Given the description of an element on the screen output the (x, y) to click on. 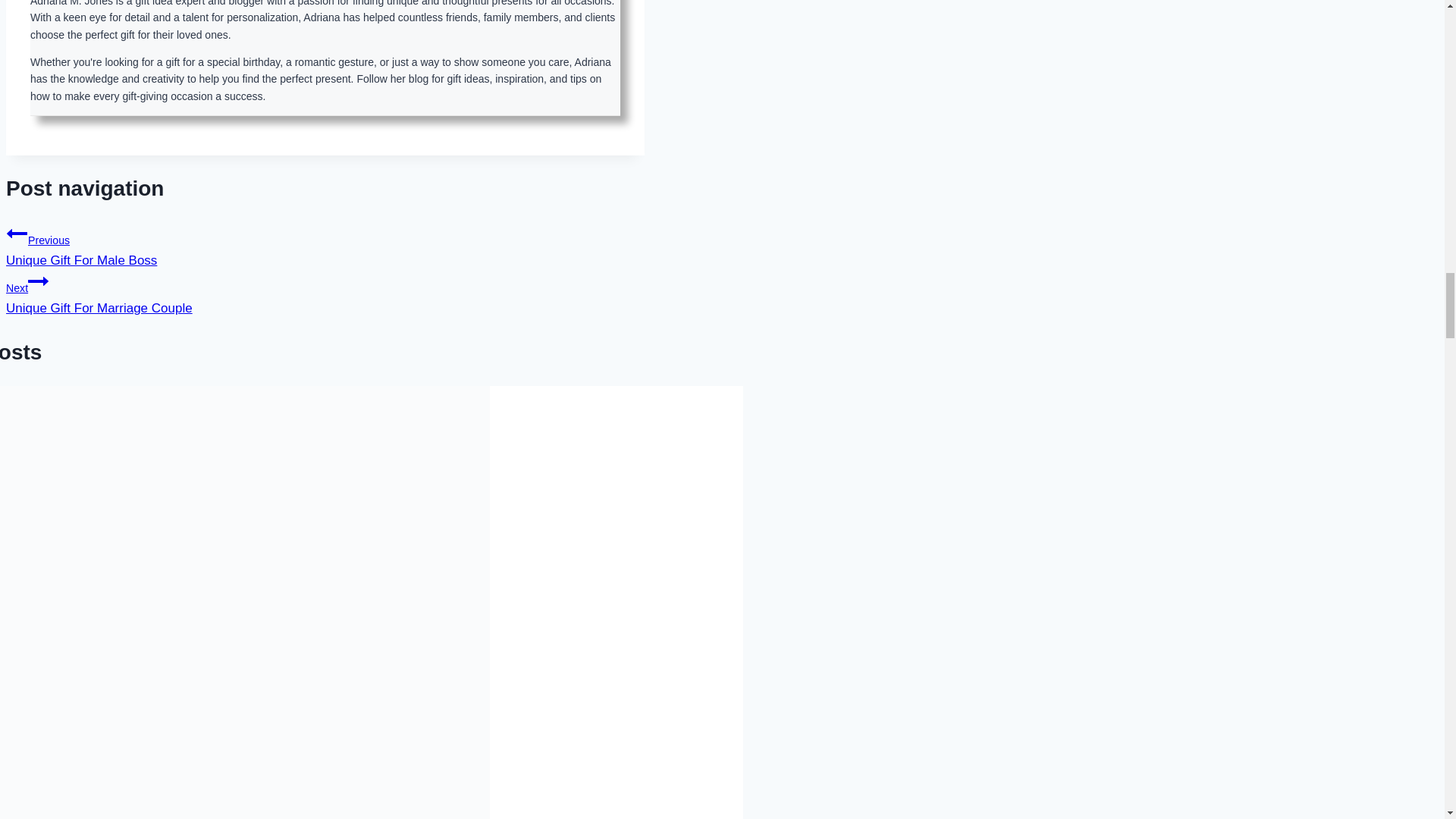
Continue (37, 281)
Previous (325, 244)
